Given the description of an element on the screen output the (x, y) to click on. 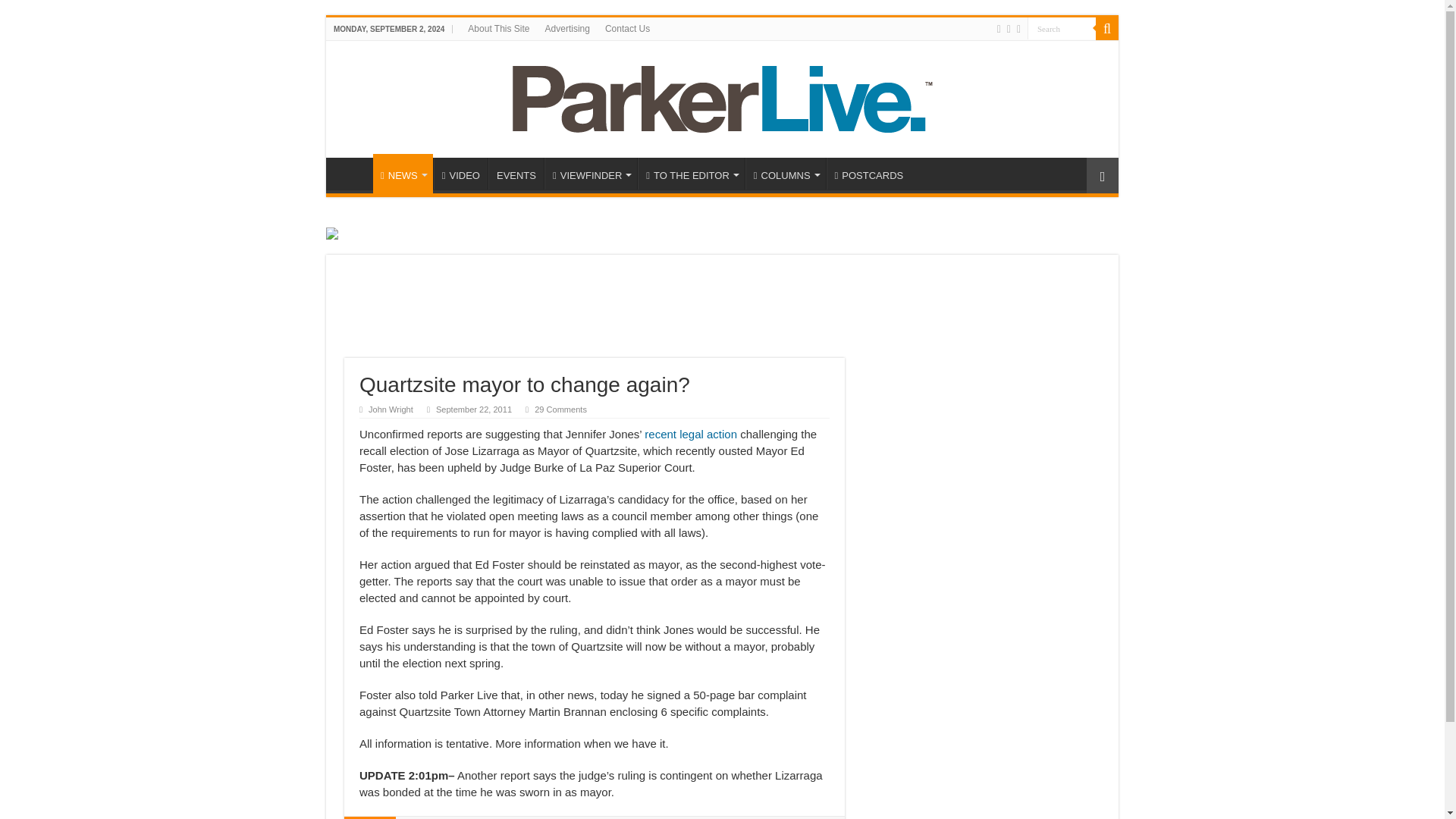
Search (1061, 28)
VIDEO (460, 173)
Parker Live (722, 99)
HOME (352, 173)
Contact Us (627, 28)
NEWS (402, 173)
Search (1107, 28)
EVENTS (515, 173)
About This Site (498, 28)
Search (1061, 28)
